Given the description of an element on the screen output the (x, y) to click on. 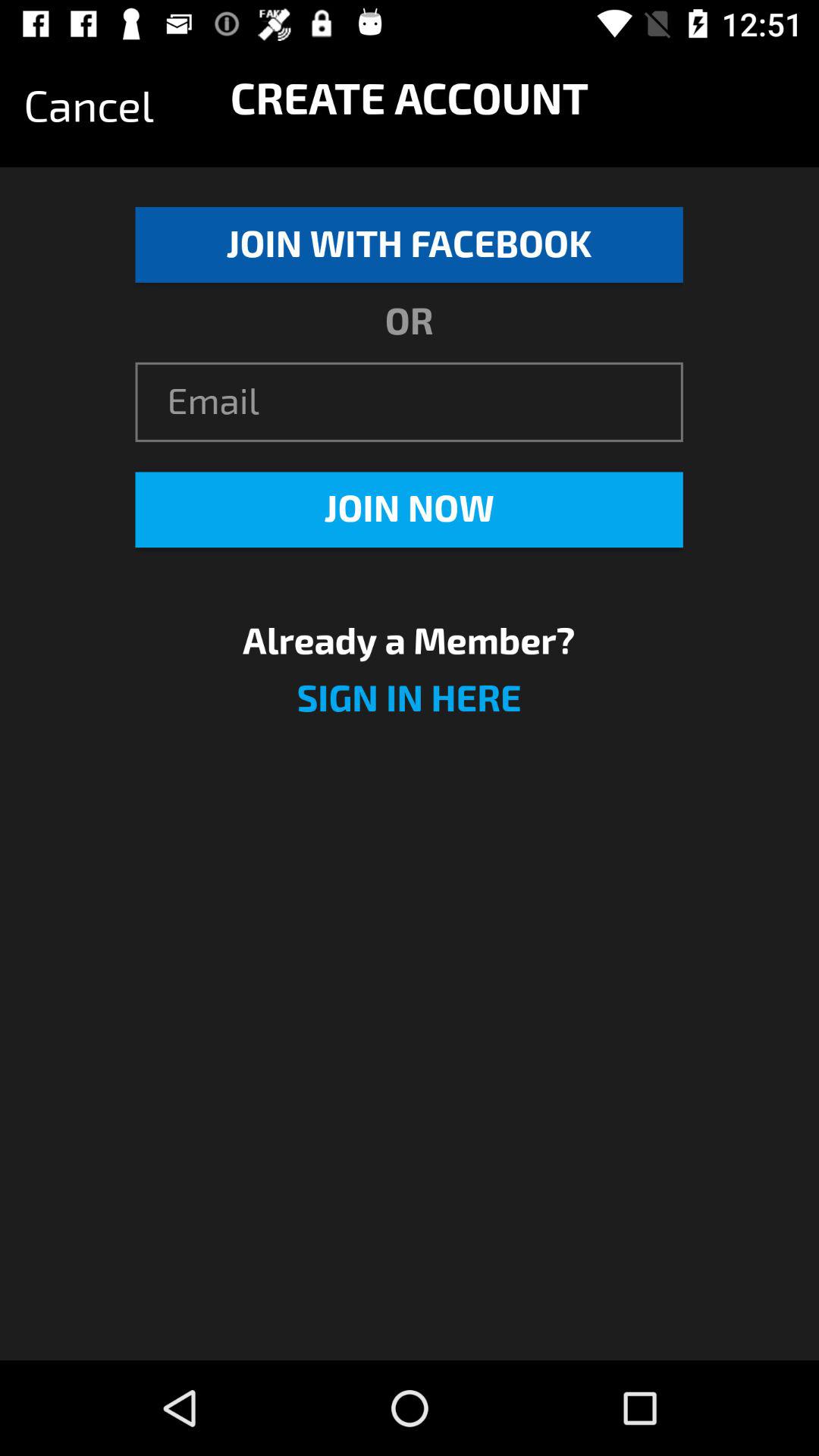
scroll to the join now icon (409, 509)
